Given the description of an element on the screen output the (x, y) to click on. 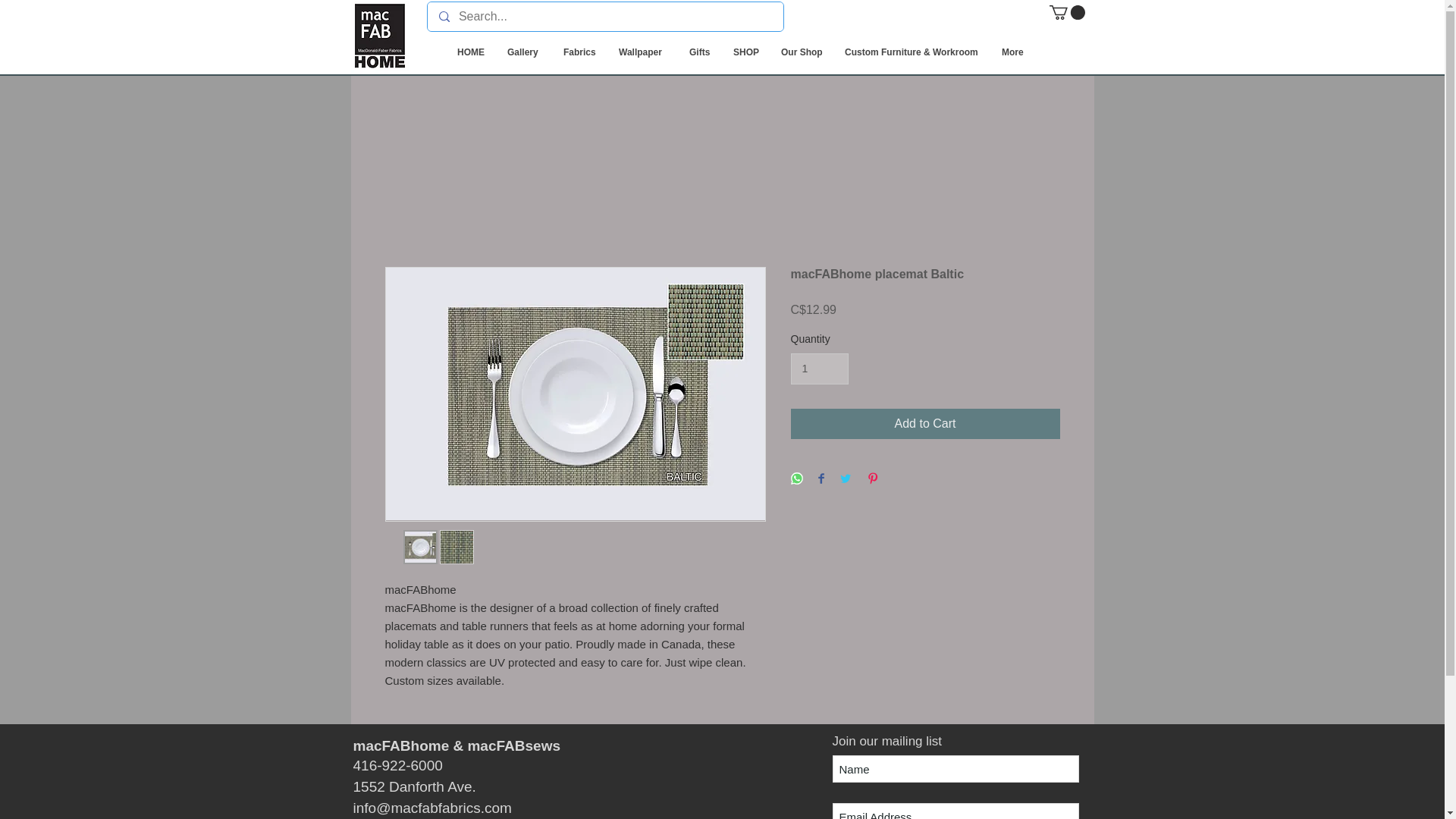
SHOP (745, 52)
Wallpaper (642, 52)
Fabrics (579, 52)
HOME (470, 52)
Gifts (699, 52)
1 (818, 368)
Gallery (523, 52)
